Given the description of an element on the screen output the (x, y) to click on. 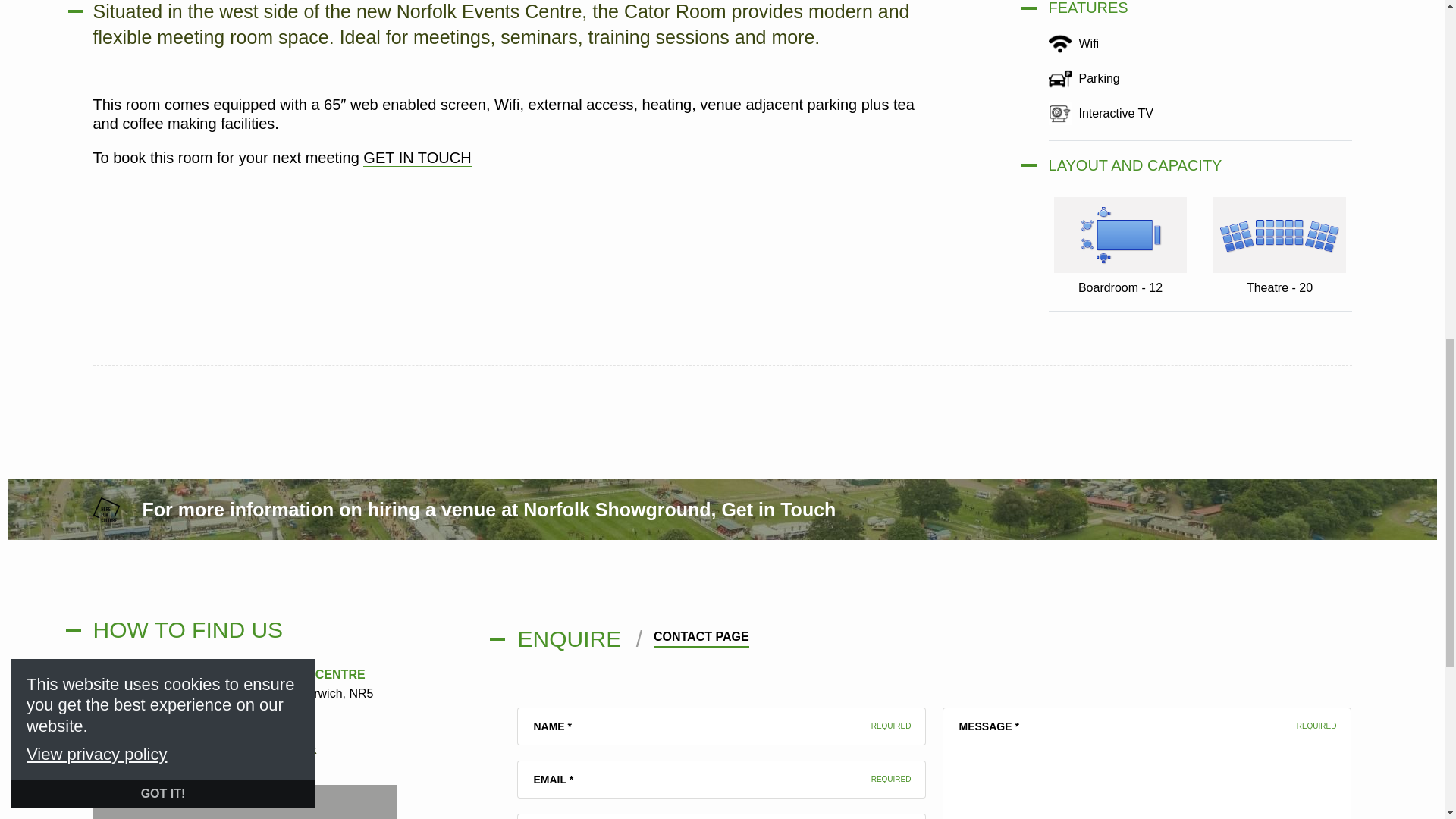
Call 01603 748931 (156, 750)
Get in Touch (777, 509)
01603 748931 (156, 750)
CONTACT PAGE (701, 638)
GET IN TOUCH (416, 158)
